Given the description of an element on the screen output the (x, y) to click on. 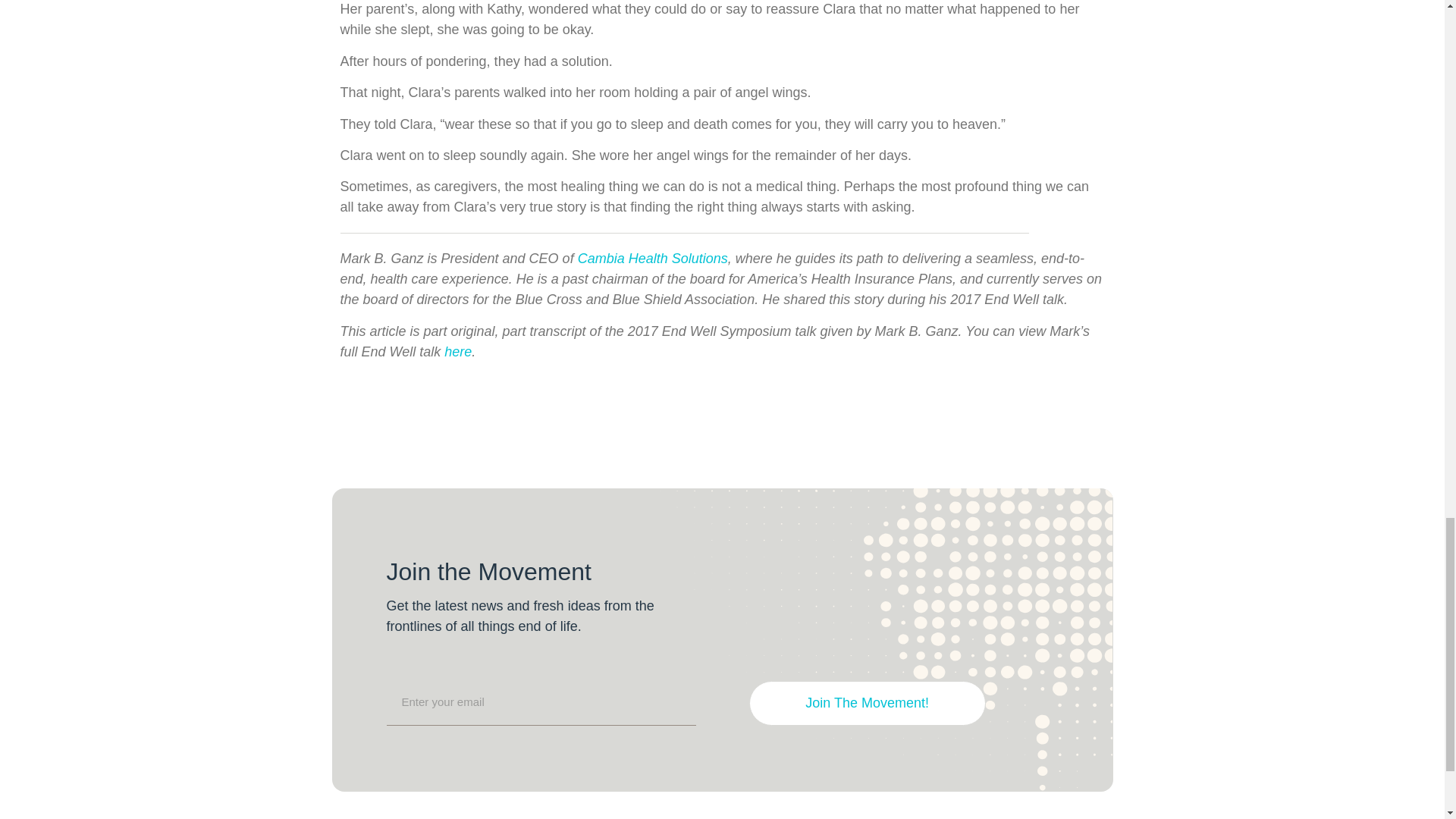
Join The Movement! (867, 702)
here (457, 351)
Cambia Health Solutions (653, 258)
